Given the description of an element on the screen output the (x, y) to click on. 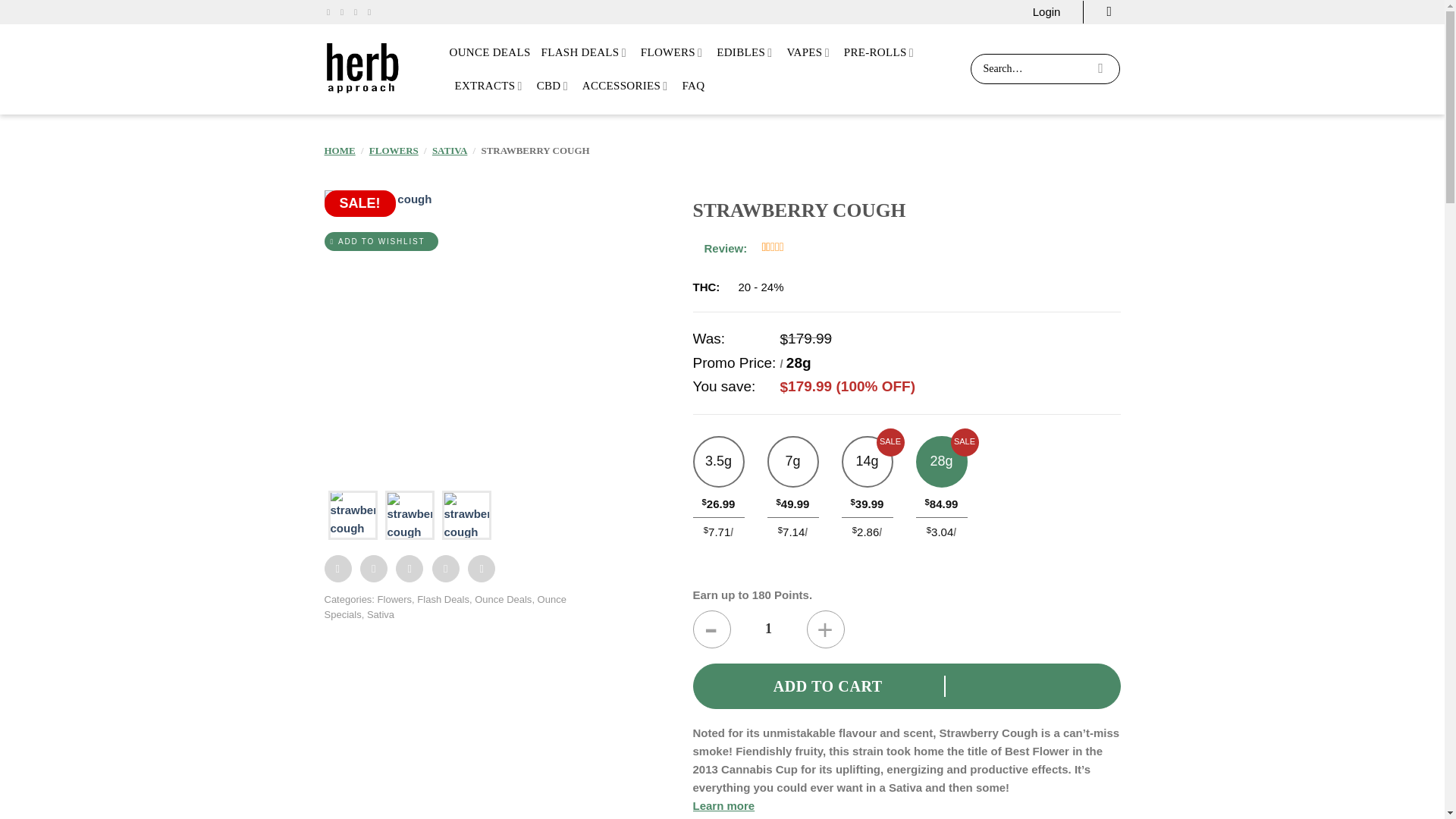
Strawberry Cough 1 (408, 517)
Strawberry-Cough-11 (1027, 330)
OUNCE DEALS (488, 52)
Strawberry-Cough-7 (745, 330)
FLOWERS (673, 52)
Email to a Friend (409, 568)
Share on Facebook (338, 568)
Follow on Facebook (330, 11)
Follow on Twitter (357, 11)
